Given the description of an element on the screen output the (x, y) to click on. 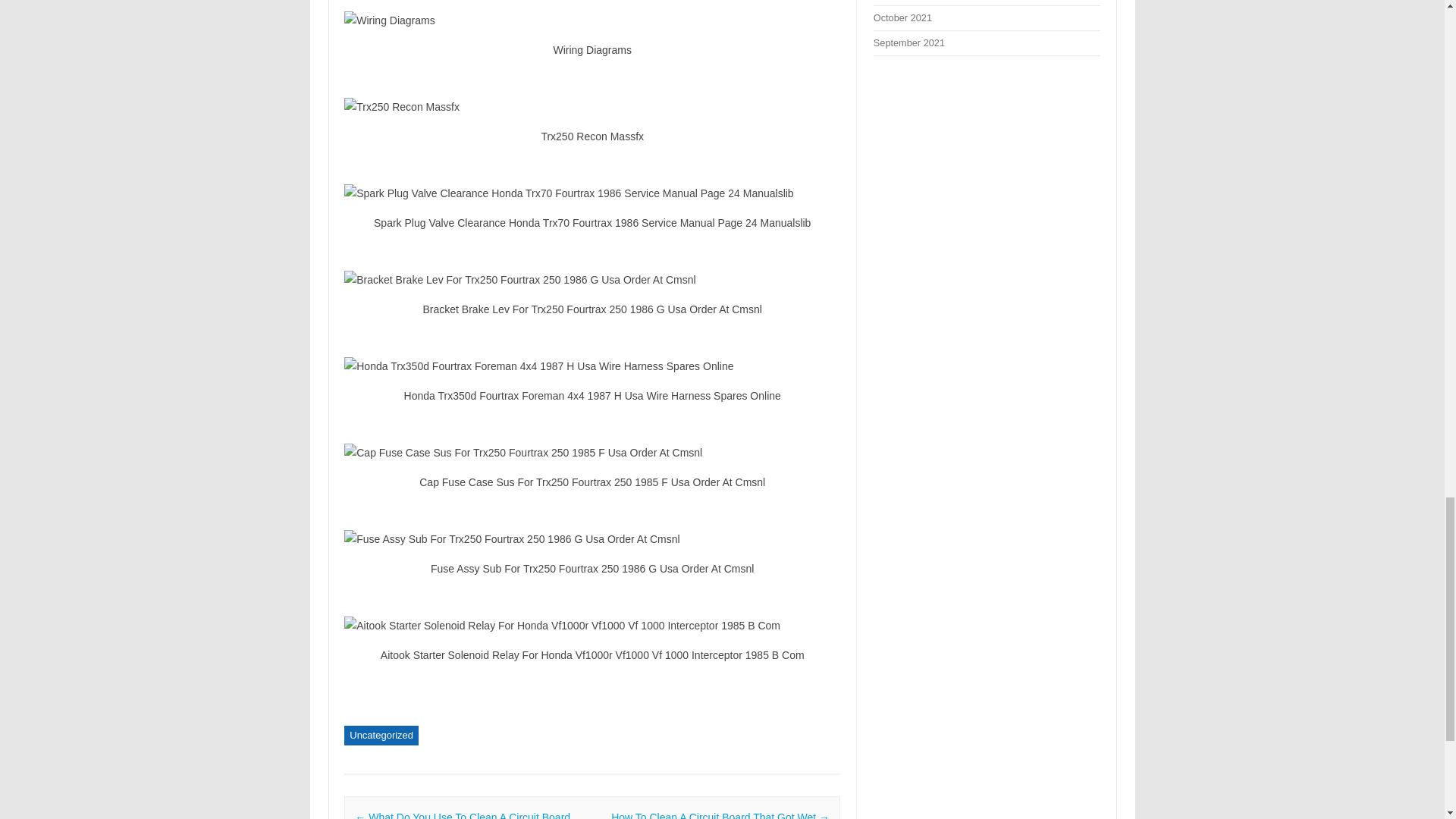
Trx250 Recon Massfx (591, 106)
Wiring Diagrams (591, 20)
Uncategorized (381, 735)
